Given the description of an element on the screen output the (x, y) to click on. 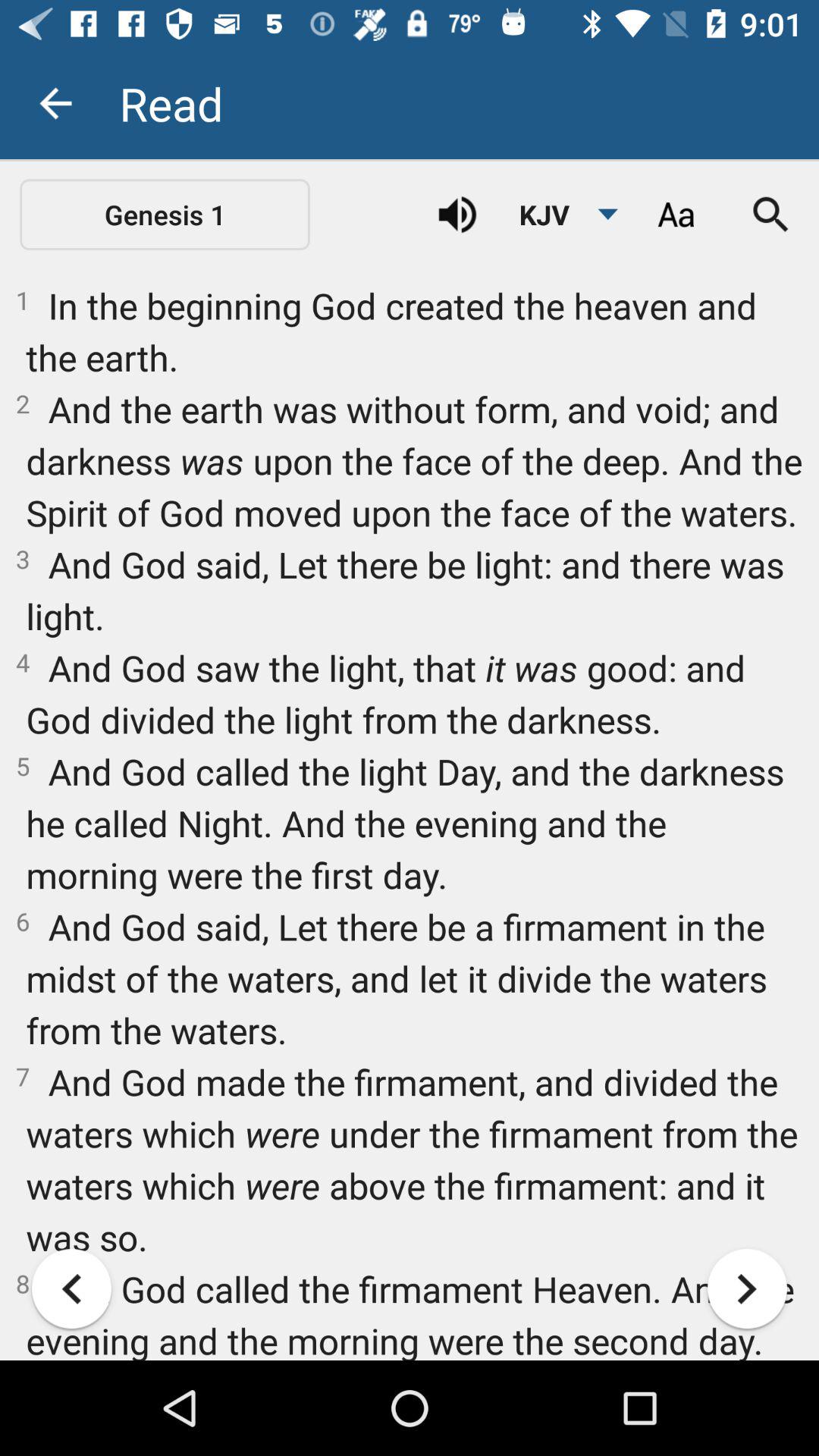
search (771, 214)
